Given the description of an element on the screen output the (x, y) to click on. 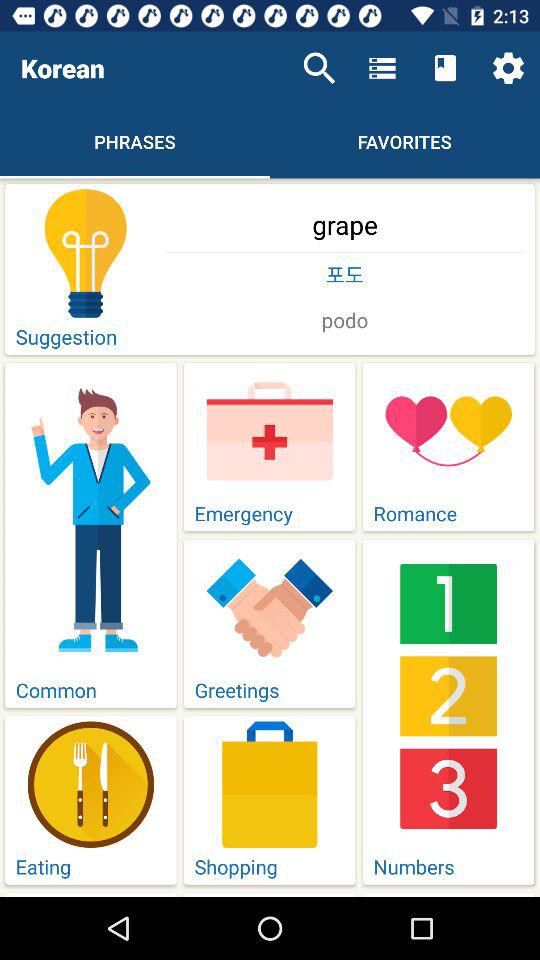
turn on the item to the right of korean icon (319, 67)
